Given the description of an element on the screen output the (x, y) to click on. 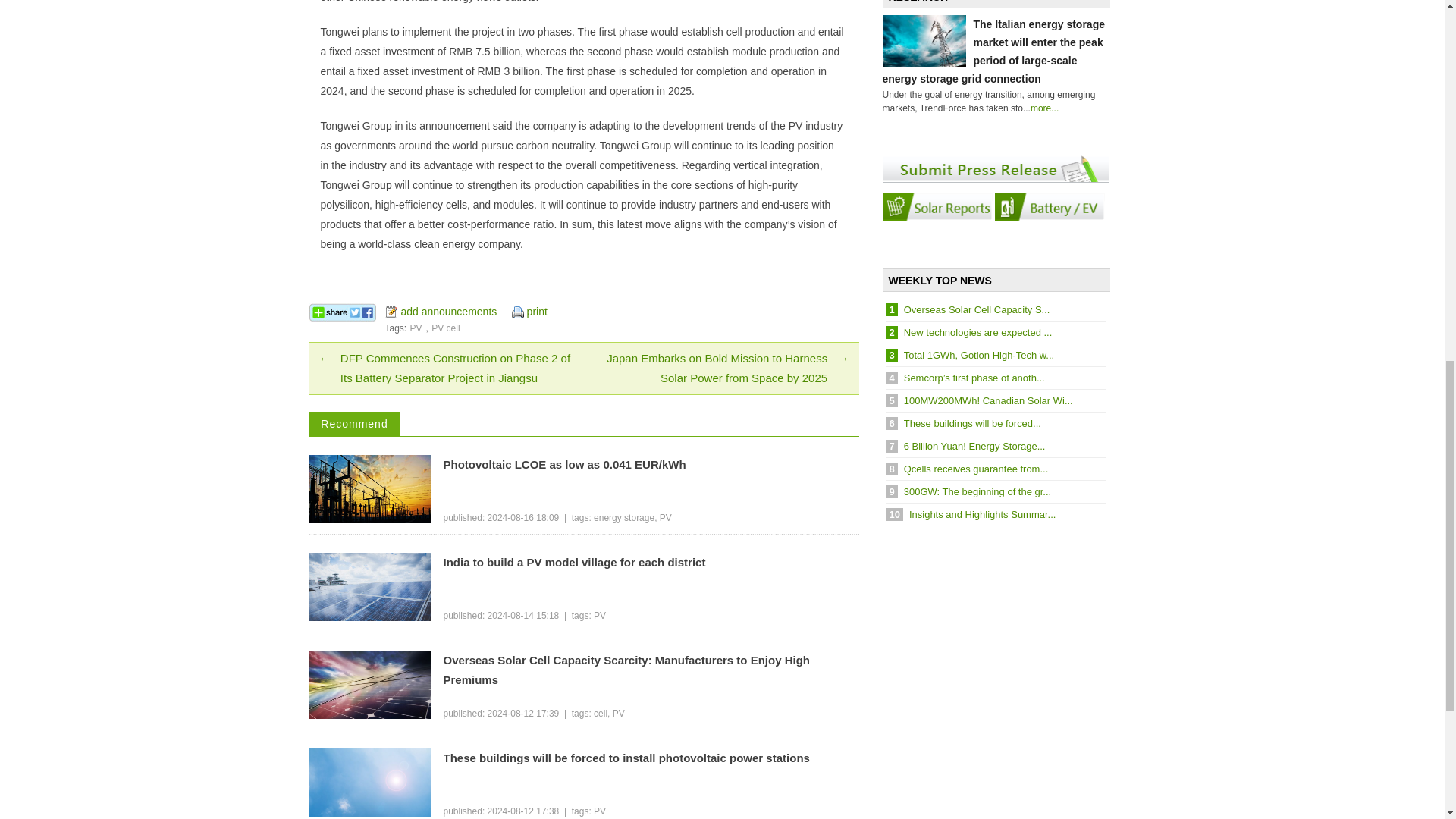
India to build a PV model village for each district (650, 562)
